Given the description of an element on the screen output the (x, y) to click on. 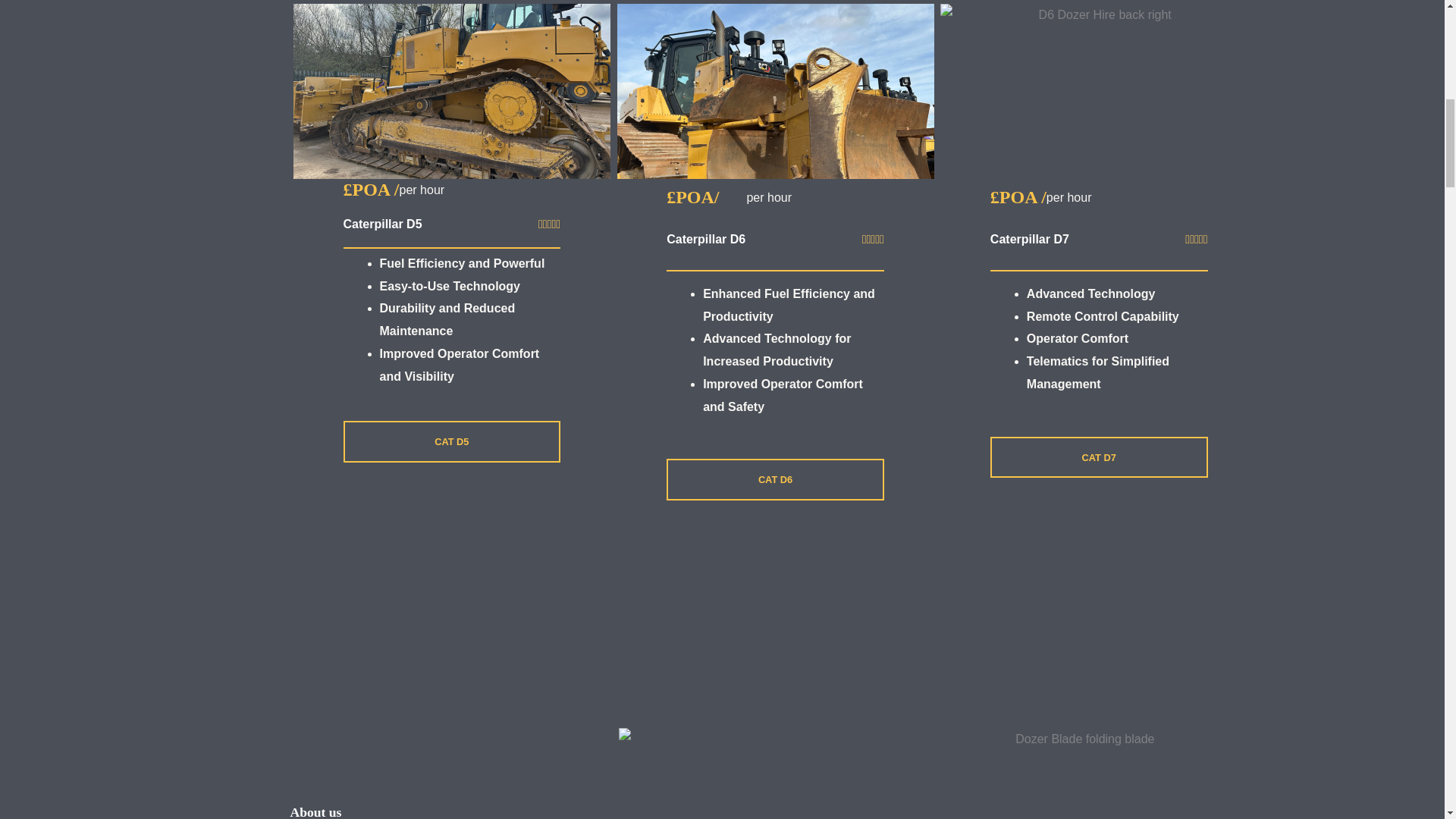
CAT D5 (451, 441)
CAT D7 (1099, 457)
CAT D6 (774, 479)
